Given the description of an element on the screen output the (x, y) to click on. 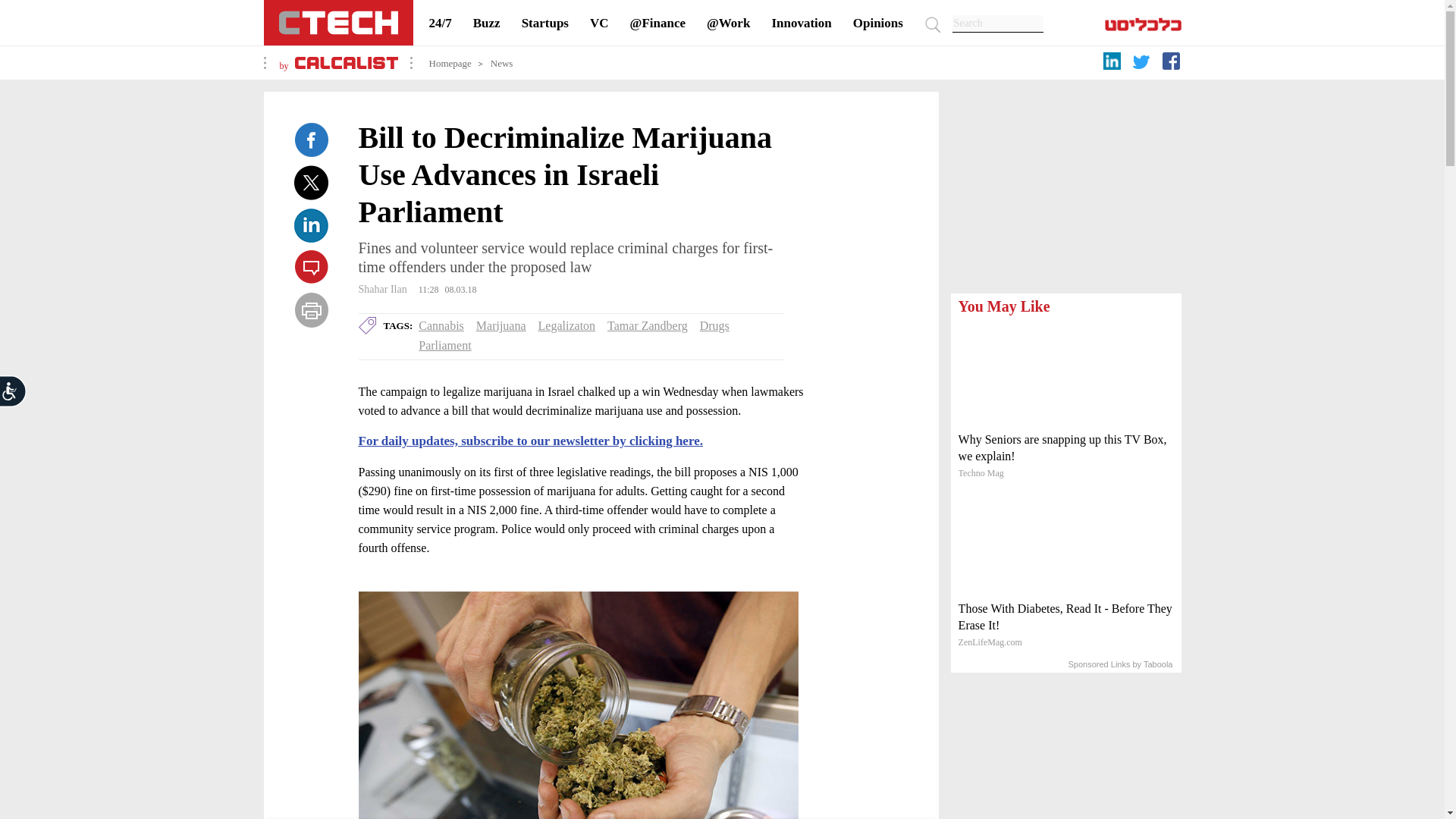
Facebook (311, 140)
calcalist (345, 65)
CTech (338, 22)
Finance (657, 23)
Linkedin (311, 225)
VC (598, 23)
VC (598, 23)
Drugs (714, 325)
Talkback (311, 267)
Marijuana (500, 325)
